Given the description of an element on the screen output the (x, y) to click on. 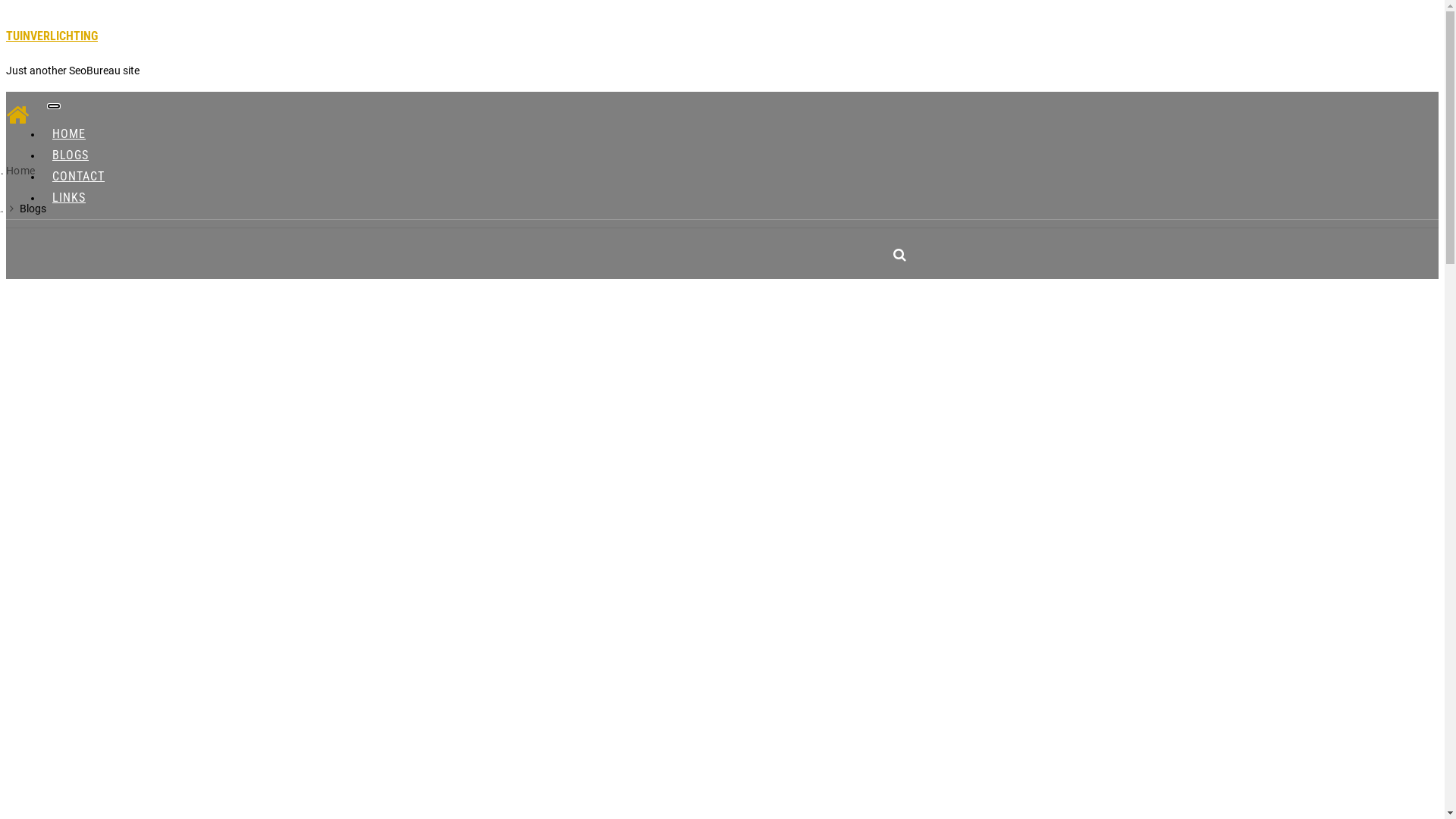
TUINVERLICHTING Element type: text (51, 35)
Toggle navigation Element type: text (53, 105)
search_icon Element type: hover (899, 254)
BLOGS Element type: text (70, 154)
LINKS Element type: text (68, 197)
CONTACT Element type: text (78, 175)
Home Element type: text (20, 170)
HOME Element type: text (68, 133)
Skip to content Element type: text (5, 5)
